Given the description of an element on the screen output the (x, y) to click on. 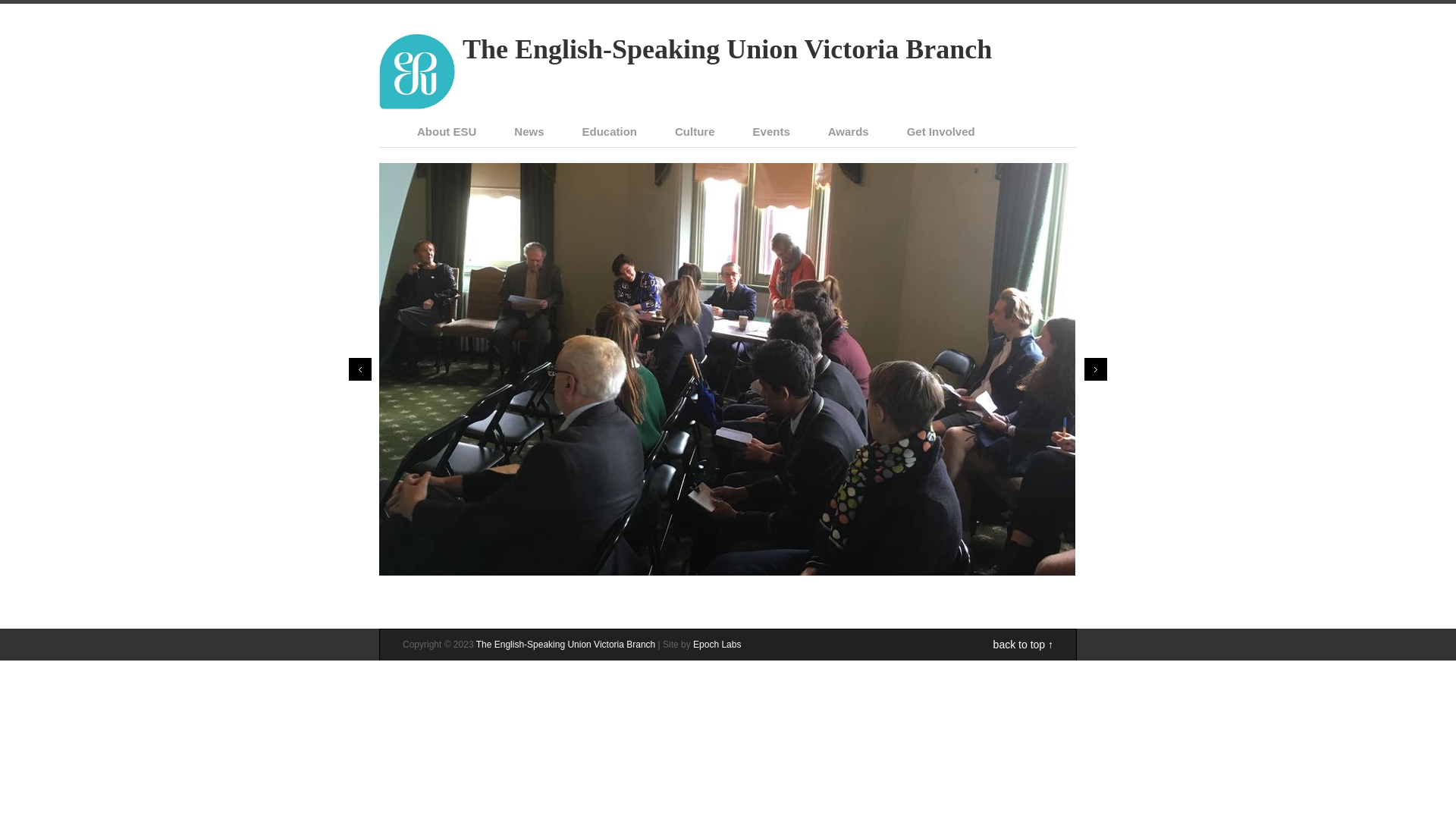
News Element type: text (528, 131)
Get Involved Element type: text (940, 131)
Epoch Labs Element type: text (716, 644)
Events Element type: text (771, 131)
Education Element type: text (609, 131)
The English-Speaking Union Victoria Branch Element type: text (726, 49)
Home Element type: hover (417, 105)
About ESU Element type: text (446, 131)
Culture Element type: text (694, 131)
The English-Speaking Union Victoria Branch Element type: text (565, 644)
Awards Element type: text (848, 131)
Next Element type: text (1095, 368)
Prev Element type: text (359, 368)
